Given the description of an element on the screen output the (x, y) to click on. 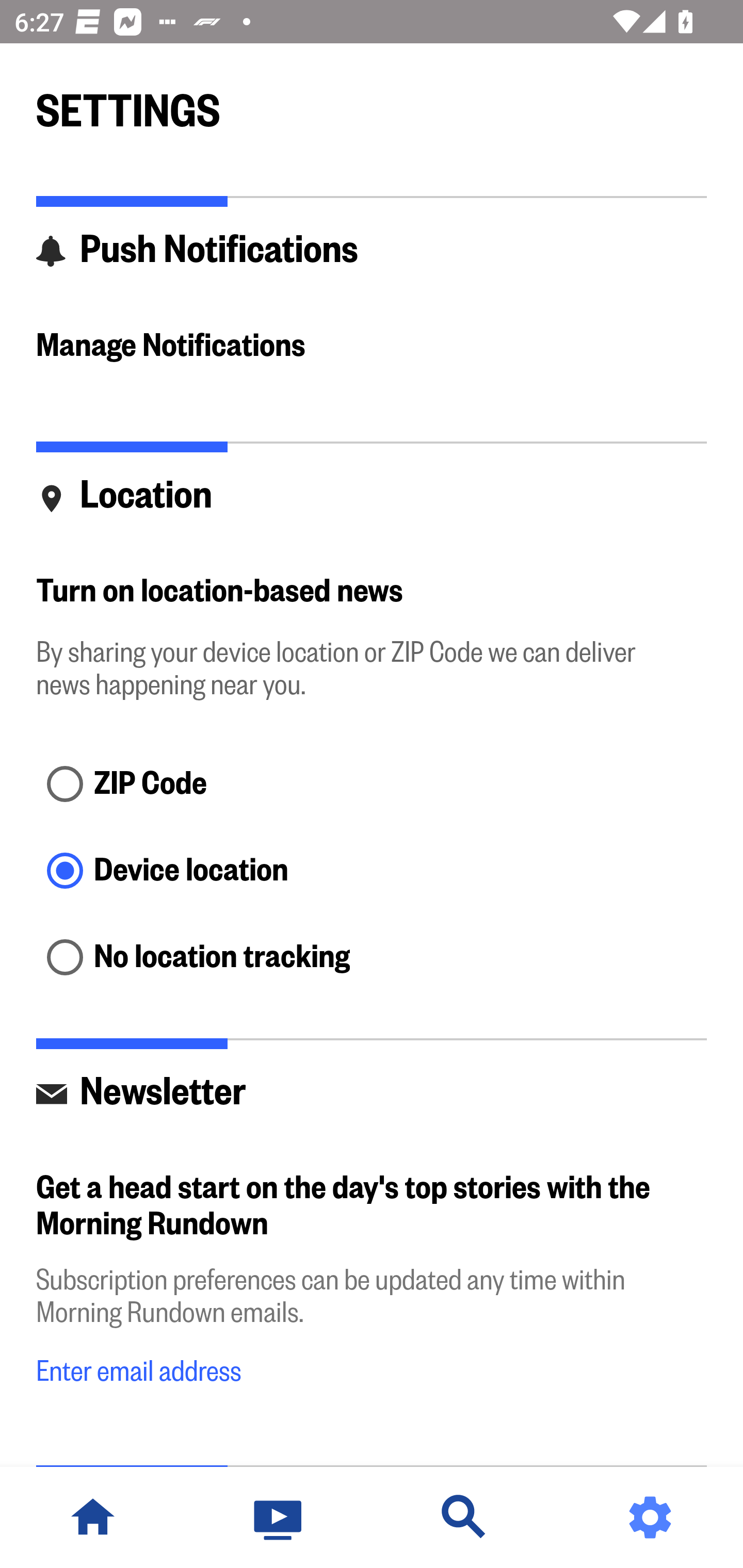
SETTINGS (371, 101)
Manage Notifications (371, 346)
ZIP Code (371, 785)
Device location (371, 872)
No location tracking (371, 958)
NBC News Home (92, 1517)
Watch (278, 1517)
Discover (464, 1517)
